Given the description of an element on the screen output the (x, y) to click on. 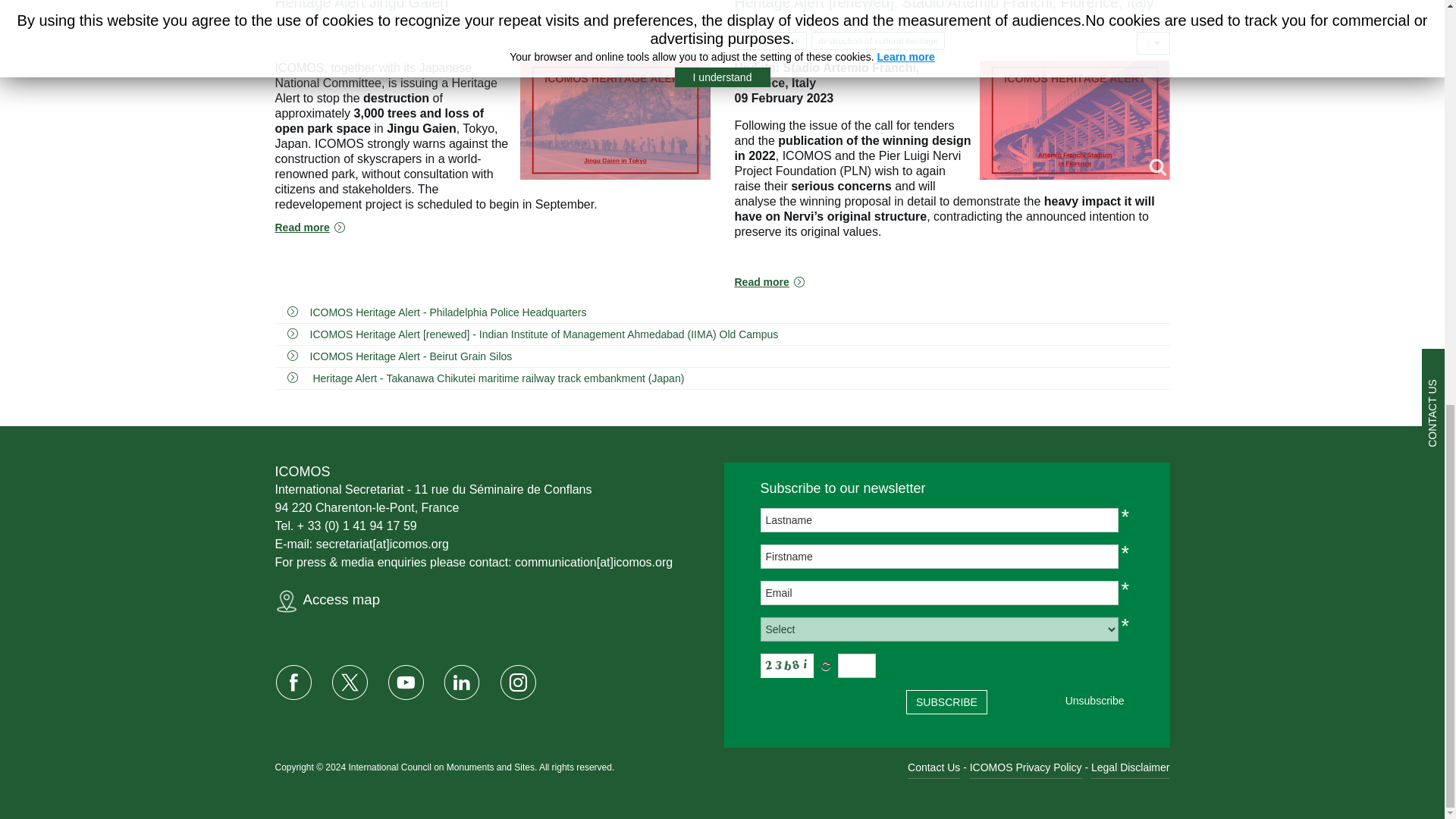
Subscribe (946, 702)
Lastname (939, 519)
Email (939, 592)
Heritage Alert Jingu Gaien (361, 5)
Unsubscribe (1095, 700)
Firstname (939, 556)
